Given the description of an element on the screen output the (x, y) to click on. 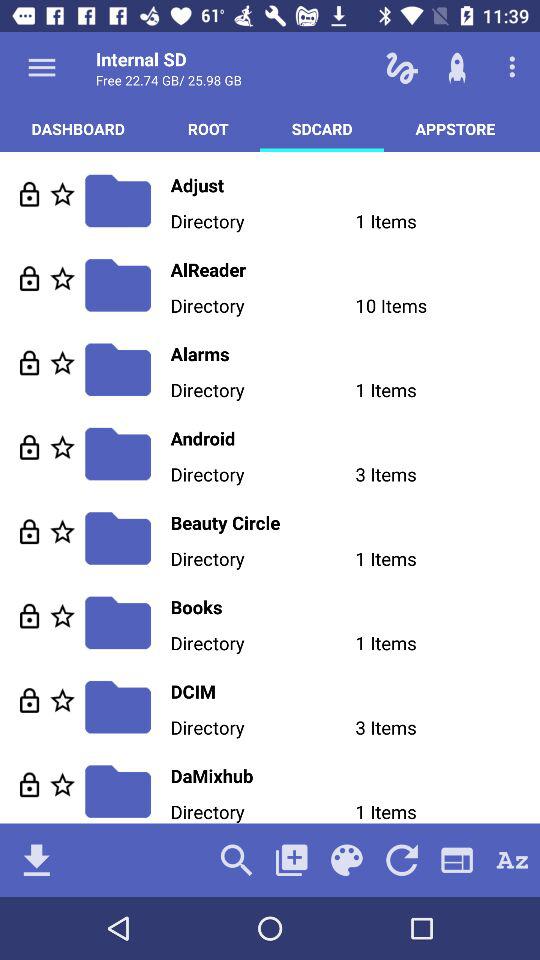
lock folder (29, 615)
